Given the description of an element on the screen output the (x, y) to click on. 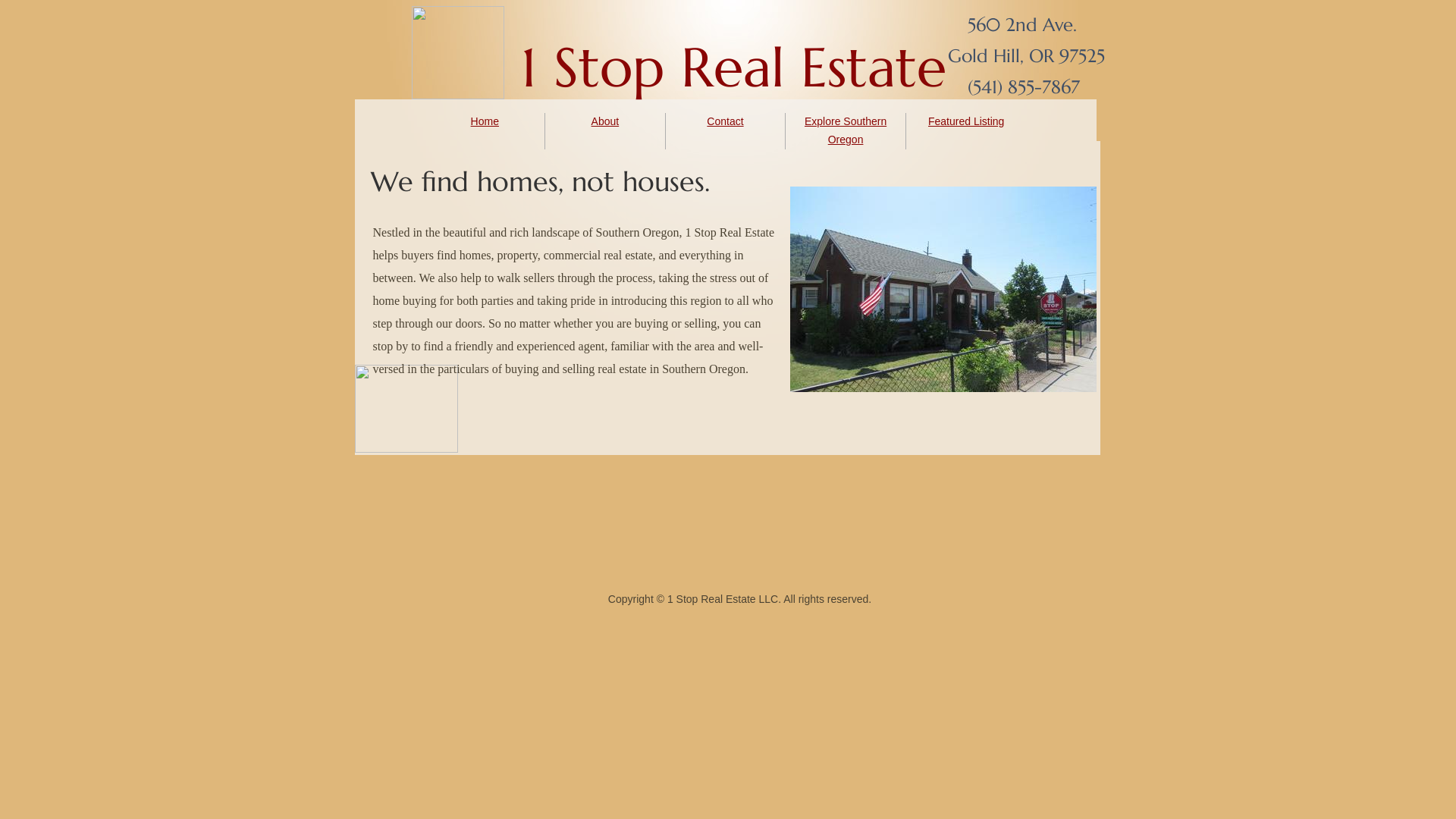
Home Element type: text (484, 121)
About Element type: text (605, 121)
Contact Element type: text (724, 121)
Explore Southern Oregon Element type: text (845, 130)
Featured Listing Element type: text (966, 121)
